Given the description of an element on the screen output the (x, y) to click on. 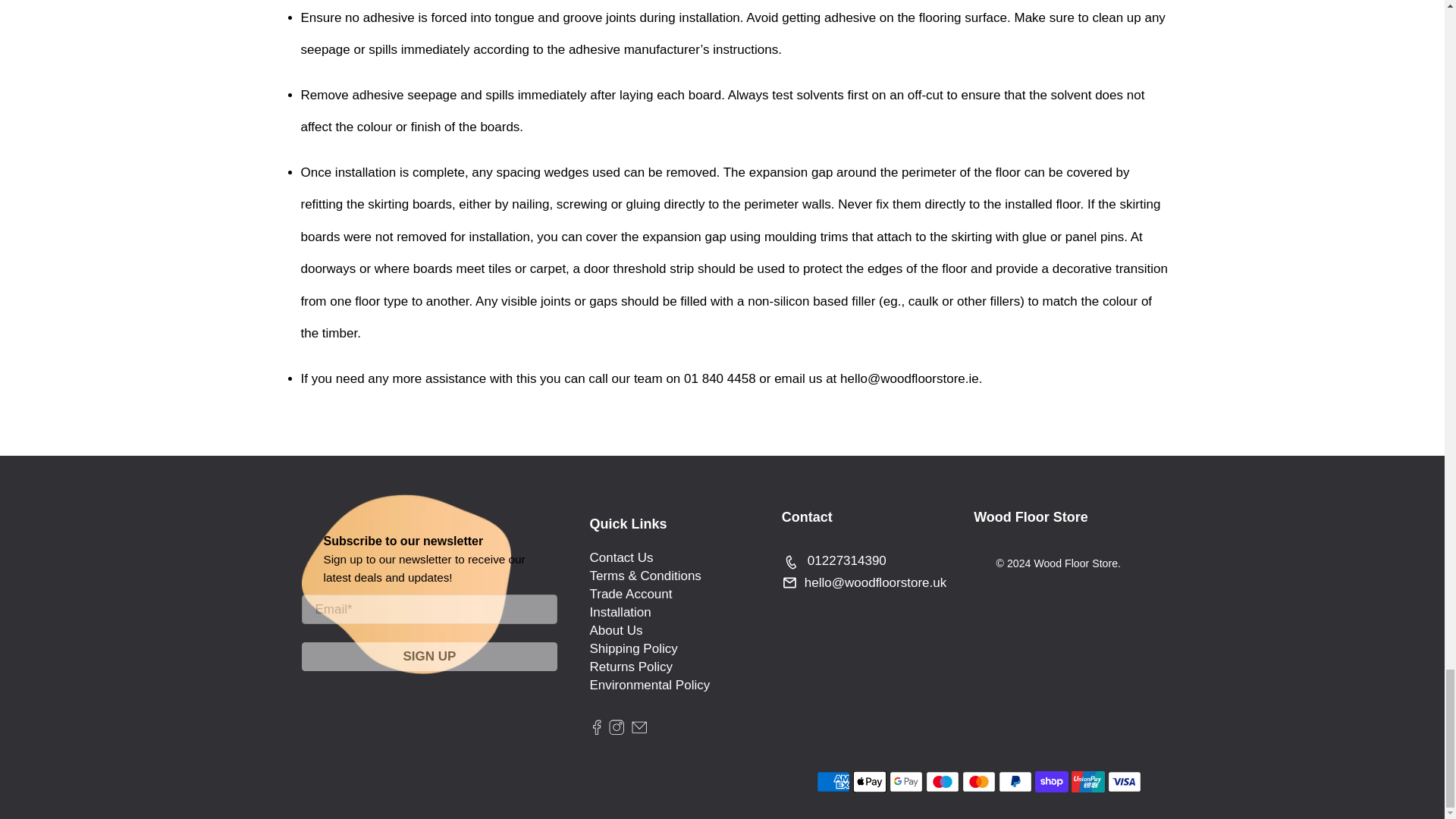
Email Wood Floor Store (638, 725)
Wood Floor Store on Instagram (616, 725)
Wood Floor Store on Facebook (596, 725)
